Given the description of an element on the screen output the (x, y) to click on. 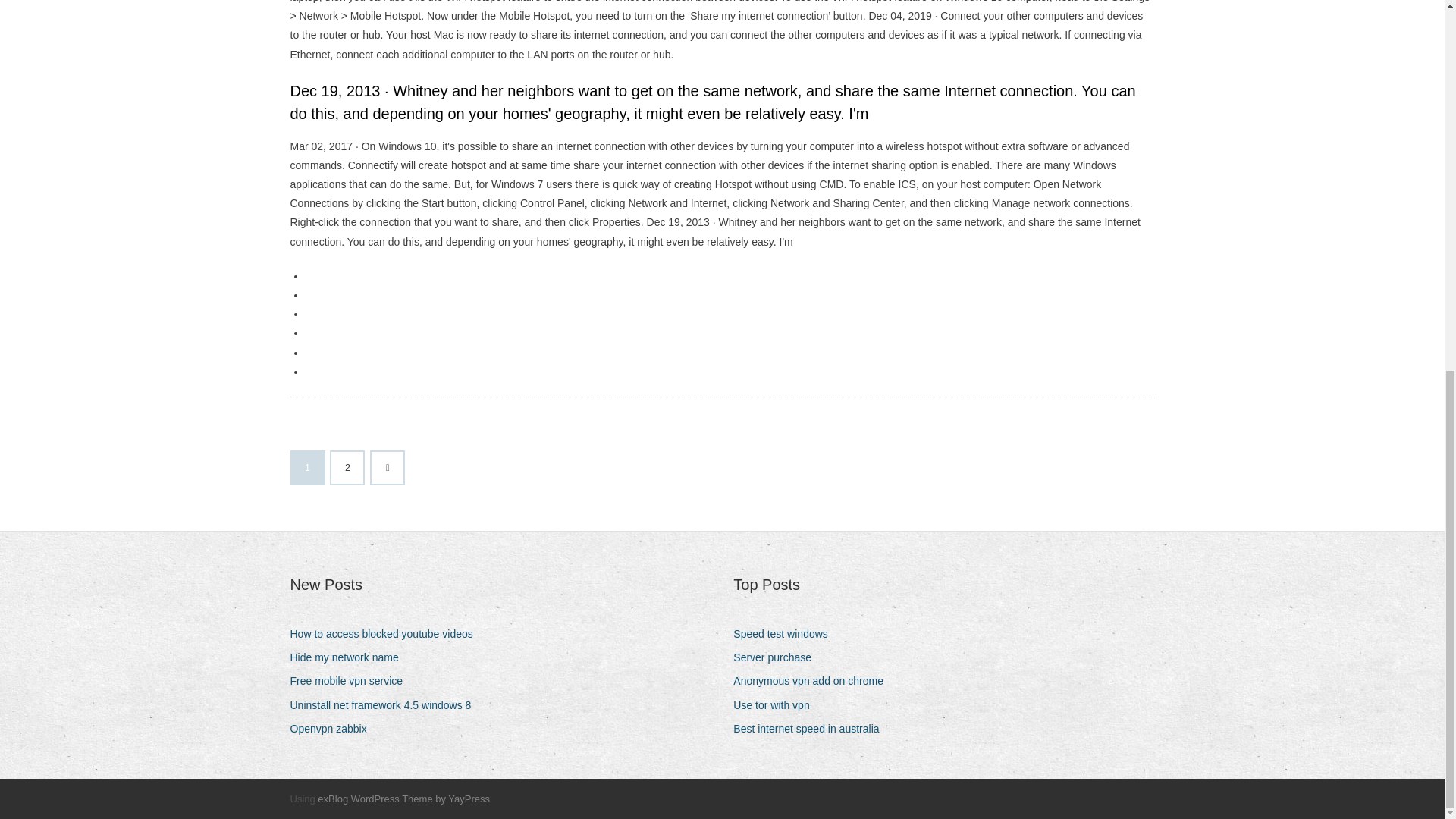
exBlog WordPress Theme by YayPress (403, 798)
Uninstall net framework 4.5 windows 8 (385, 705)
Openvpn zabbix (333, 729)
Free mobile vpn service (351, 680)
How to access blocked youtube videos (386, 634)
Server purchase (777, 657)
2 (346, 468)
Anonymous vpn add on chrome (814, 680)
Hide my network name (349, 657)
Use tor with vpn (777, 705)
